Given the description of an element on the screen output the (x, y) to click on. 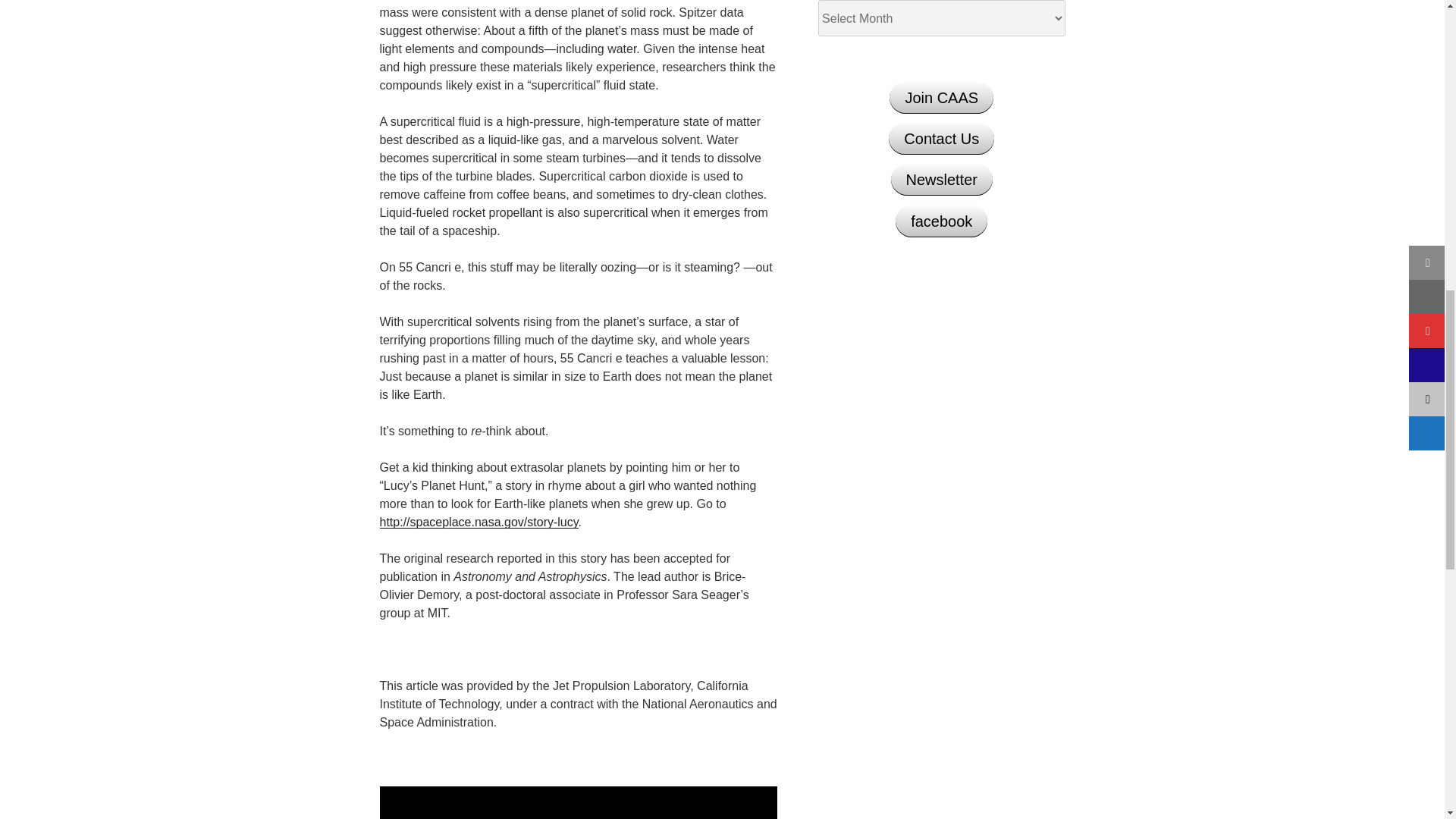
Newsletter (941, 179)
Join CAAS (940, 97)
facebook (941, 221)
Contact Us (941, 138)
